Given the description of an element on the screen output the (x, y) to click on. 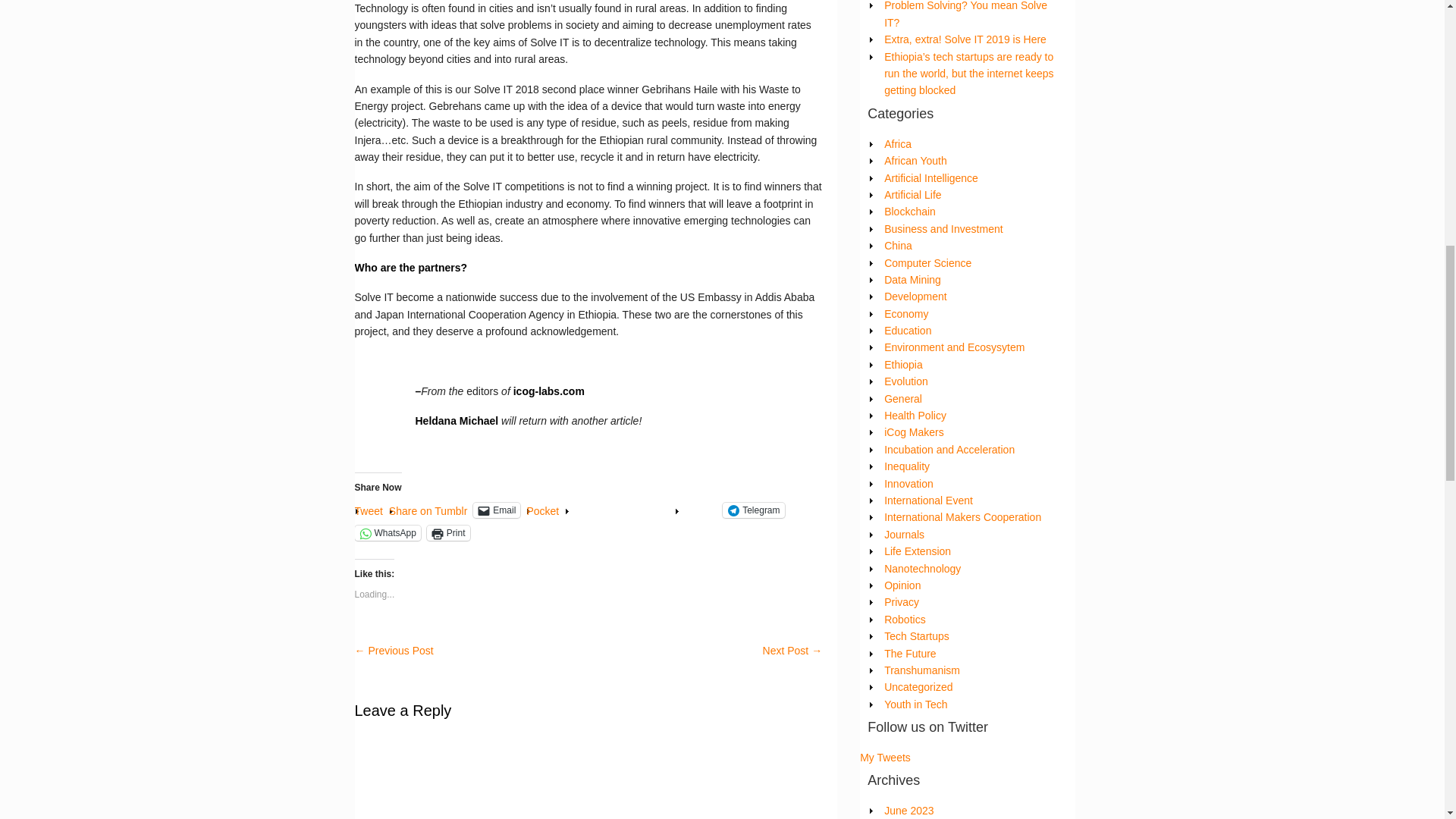
WhatsApp (387, 532)
Print (448, 532)
Click to email a link to a friend (496, 509)
icog-labs.com (548, 390)
Click to share on WhatsApp (387, 532)
Telegram (753, 509)
Click to share on Telegram (753, 509)
Share on Tumblr (427, 509)
Share on Tumblr (427, 509)
Tweet (368, 509)
Comment Form (588, 775)
Pocket (542, 510)
Email (496, 509)
Click to print (448, 532)
